Given the description of an element on the screen output the (x, y) to click on. 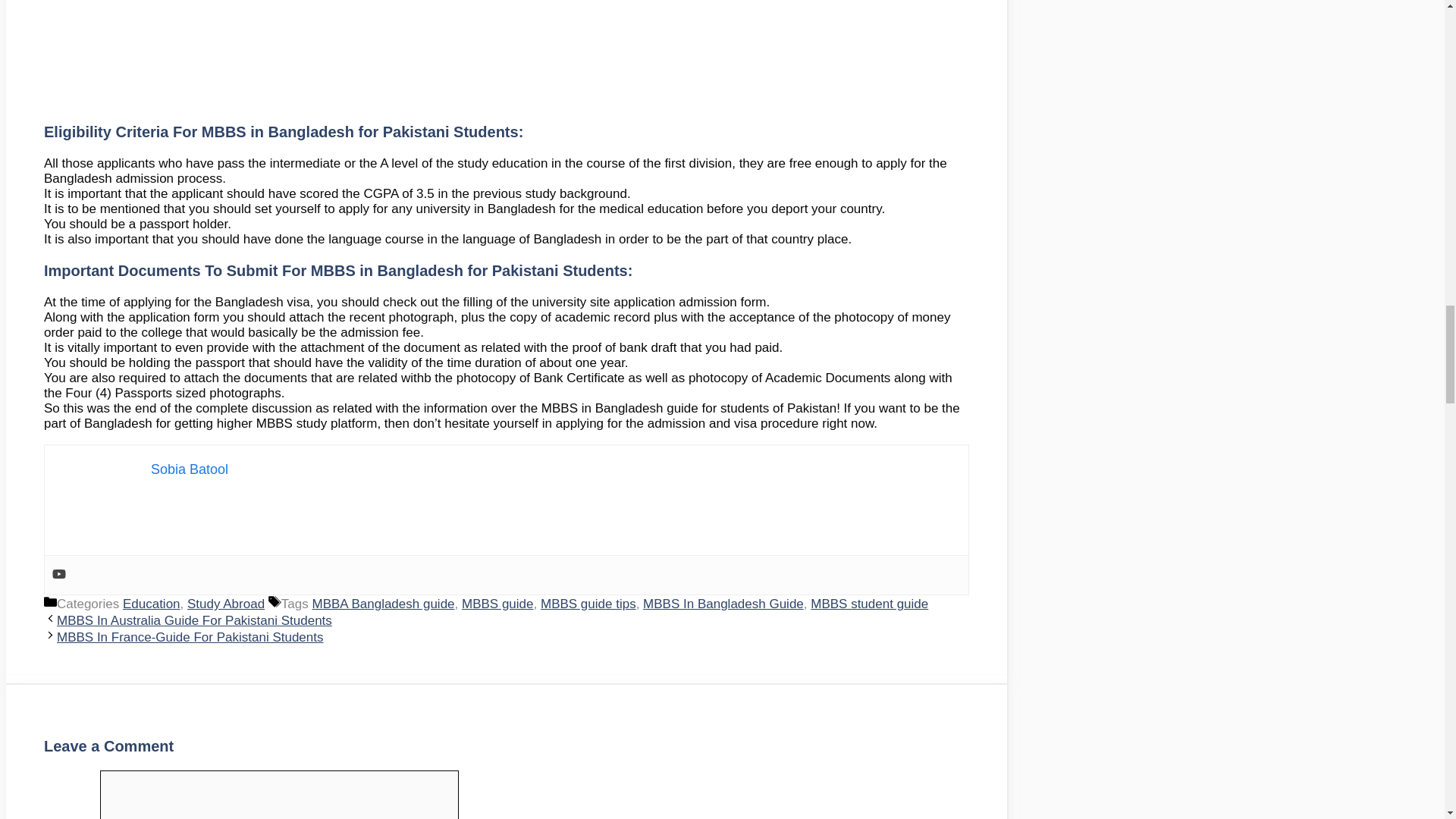
Education (151, 603)
Study Abroad (225, 603)
Sobia Batool (189, 468)
